Given the description of an element on the screen output the (x, y) to click on. 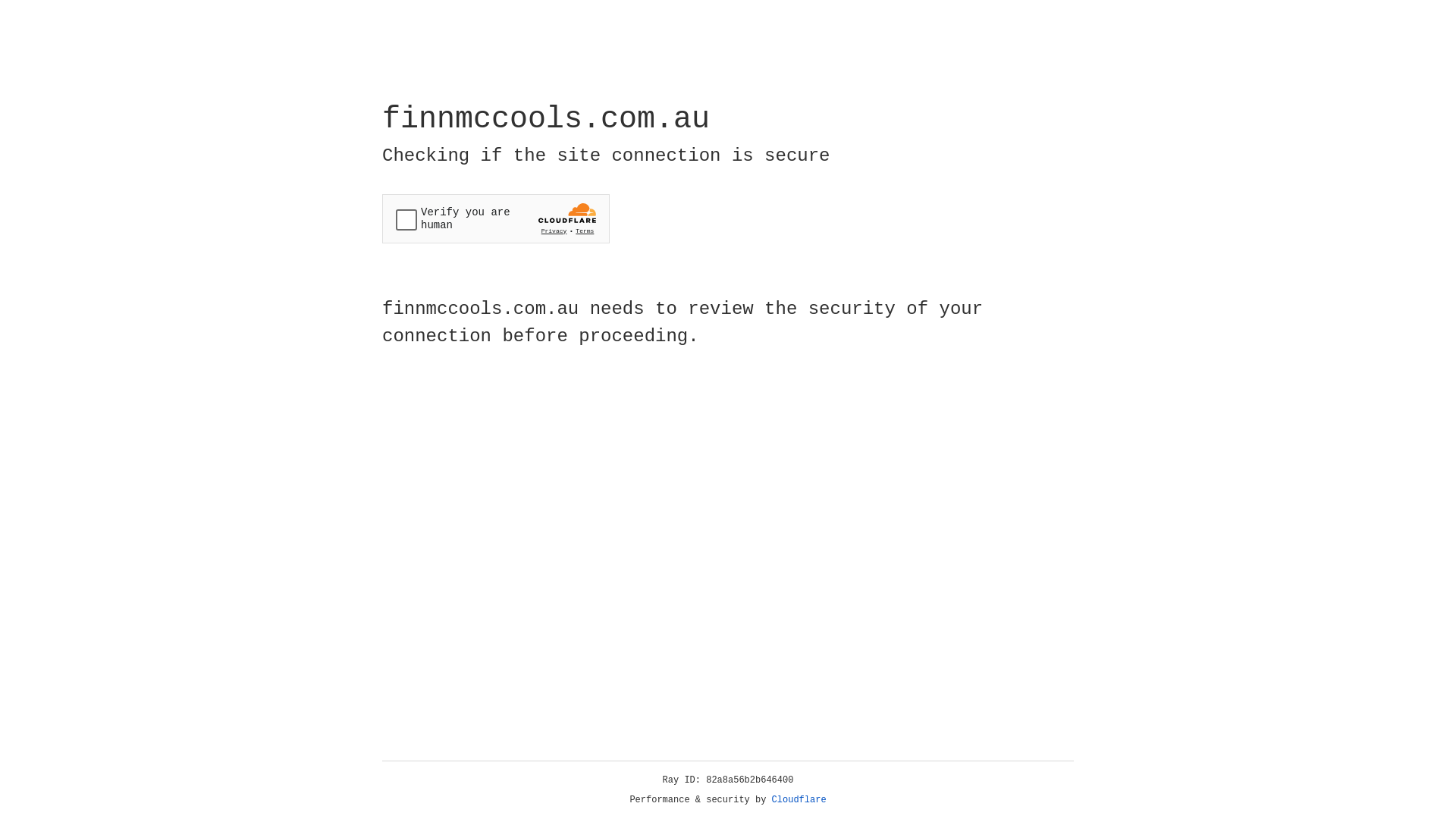
Widget containing a Cloudflare security challenge Element type: hover (495, 218)
Cloudflare Element type: text (798, 799)
